Given the description of an element on the screen output the (x, y) to click on. 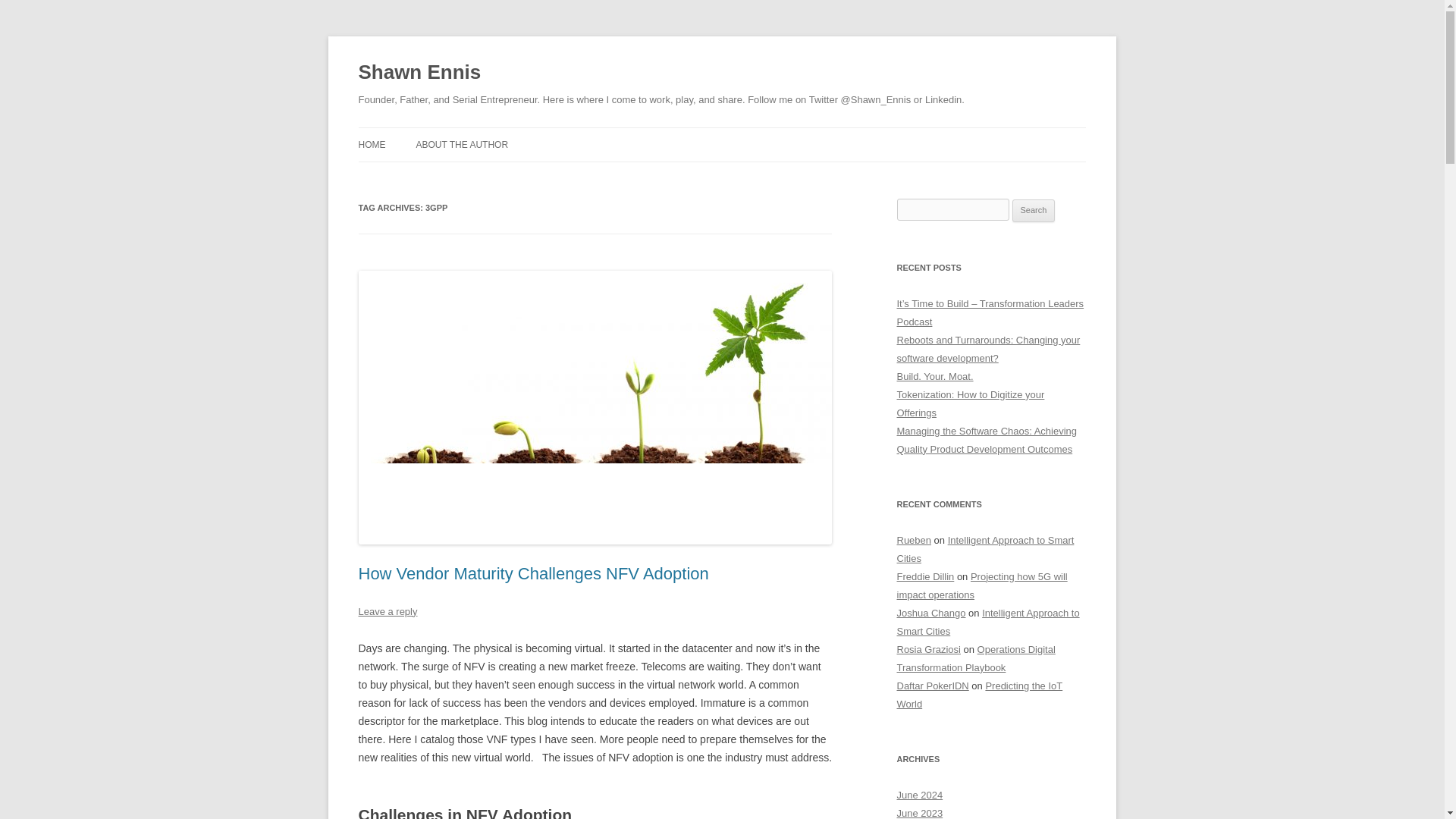
Intelligent Approach to Smart Cities (985, 549)
Search (1033, 210)
Operations Digital Transformation Playbook (975, 658)
Projecting how 5G will impact operations (981, 585)
How Vendor Maturity Challenges NFV Adoption (532, 573)
ABOUT THE AUTHOR (461, 144)
Search (1033, 210)
Predicting the IoT World (979, 695)
Intelligent Approach to Smart Cities (987, 622)
